Given the description of an element on the screen output the (x, y) to click on. 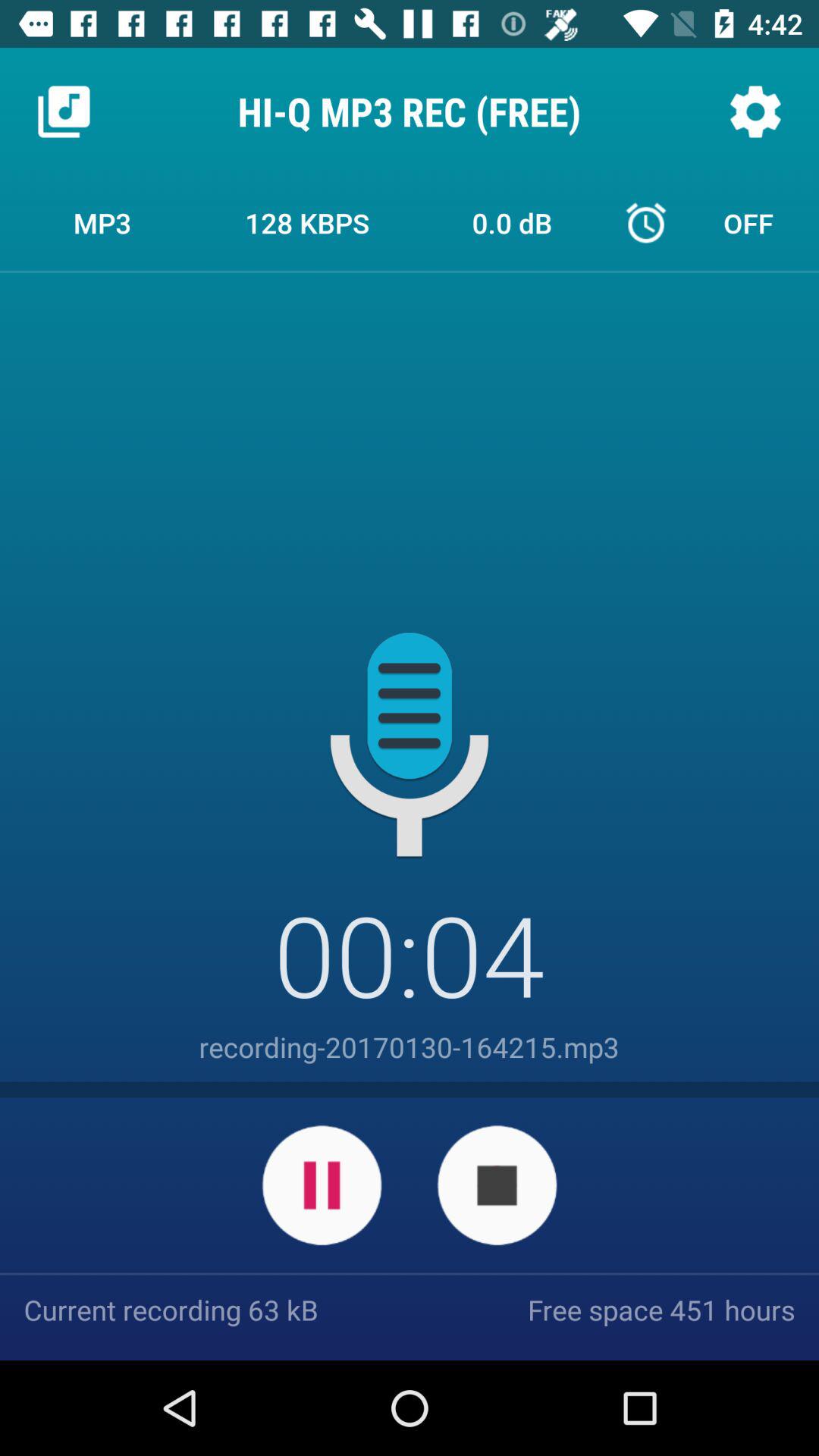
choose the icon next to the 128 kbps icon (511, 222)
